Given the description of an element on the screen output the (x, y) to click on. 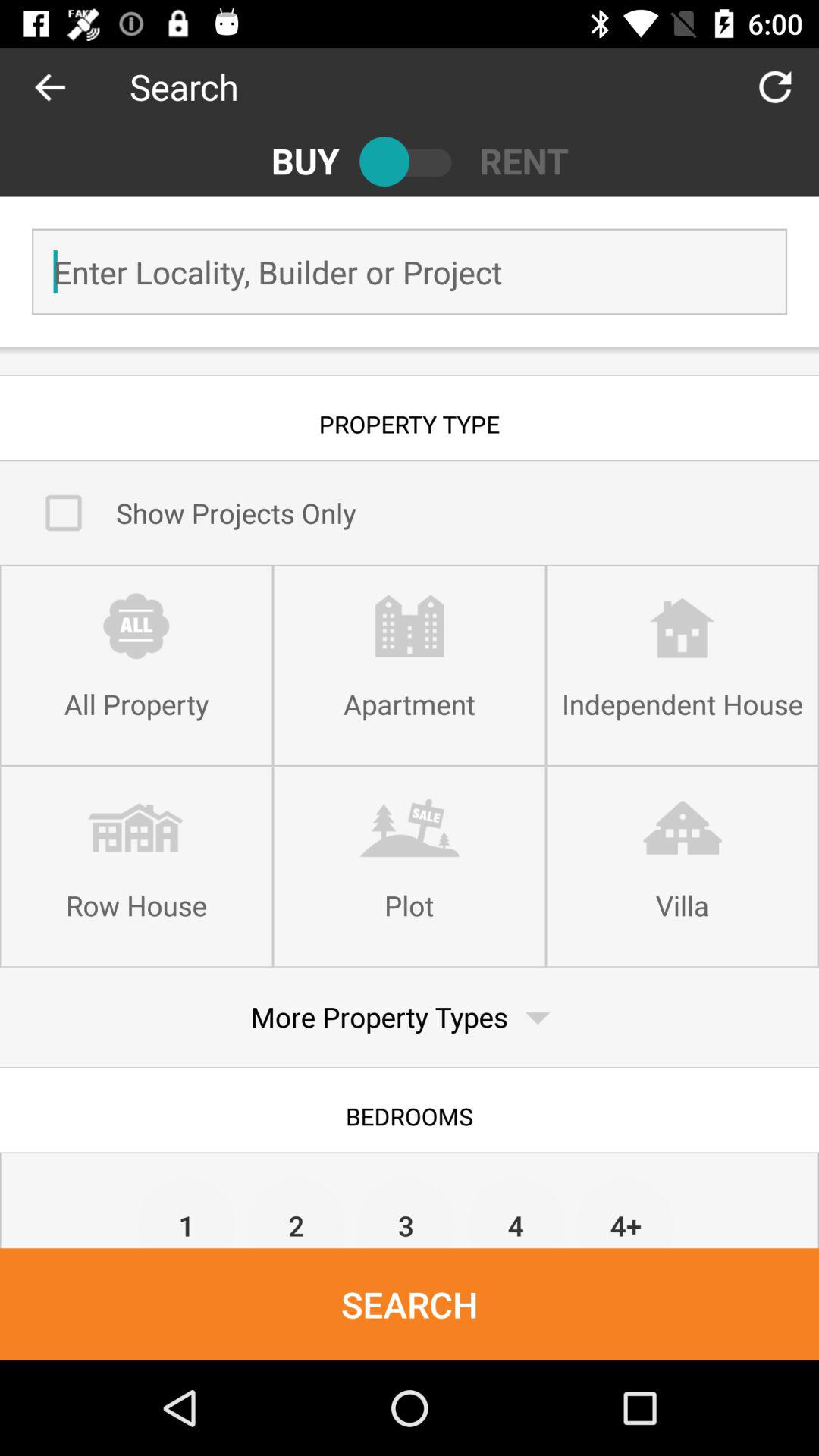
press the 2 icon (296, 1212)
